Given the description of an element on the screen output the (x, y) to click on. 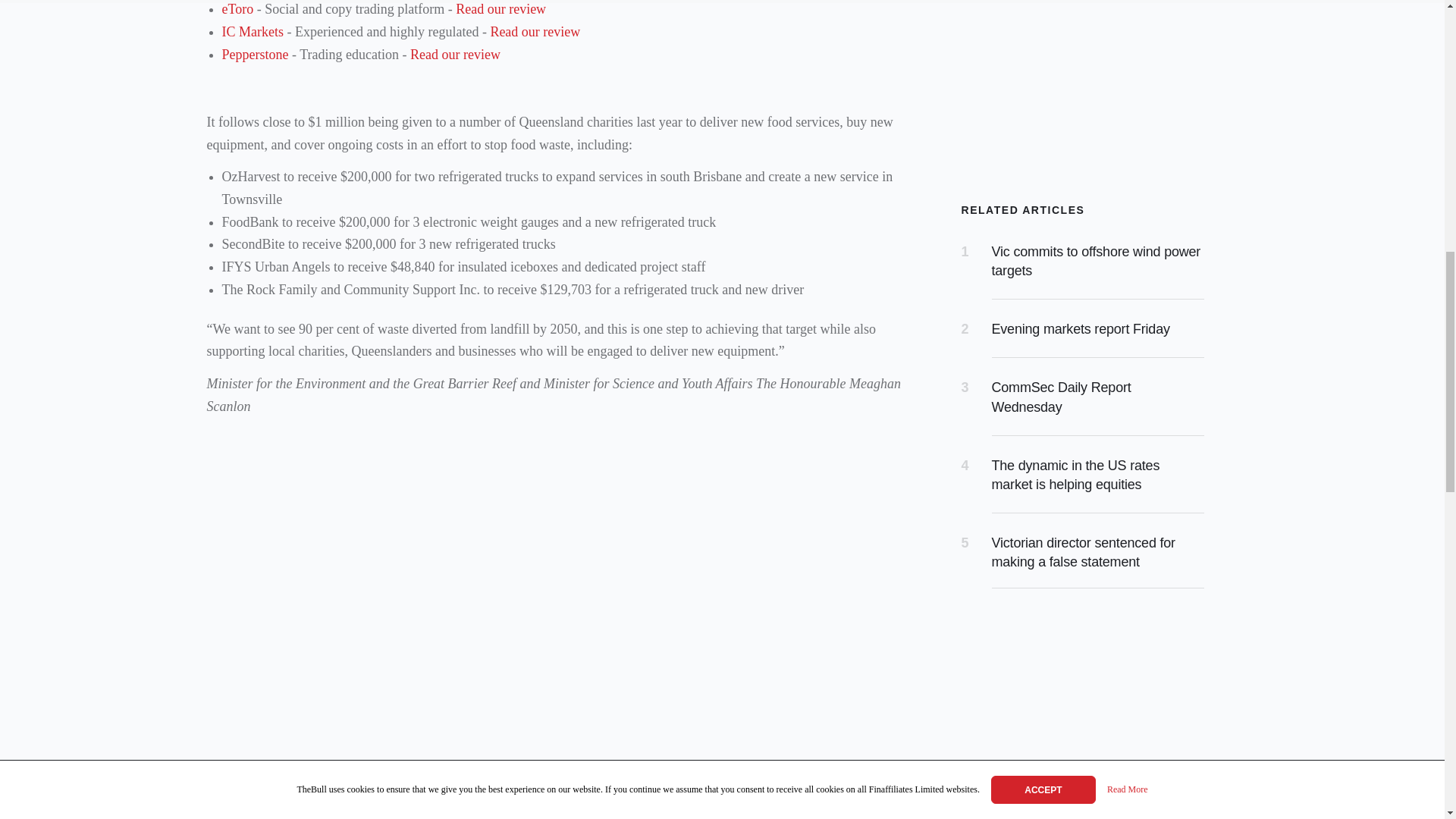
CommSec Daily Report Wednesday (1061, 397)
Victorian director sentenced for making a false statement (1082, 552)
Read our review (455, 54)
Victorian director sentenced for making a false statement (1082, 552)
Read our review (534, 31)
Read our review (500, 8)
Pepperstone (254, 54)
Evening markets report Friday (1080, 328)
The dynamic in the US rates market is helping equities (1075, 474)
The dynamic in the US rates market is helping equities (1075, 474)
